Given the description of an element on the screen output the (x, y) to click on. 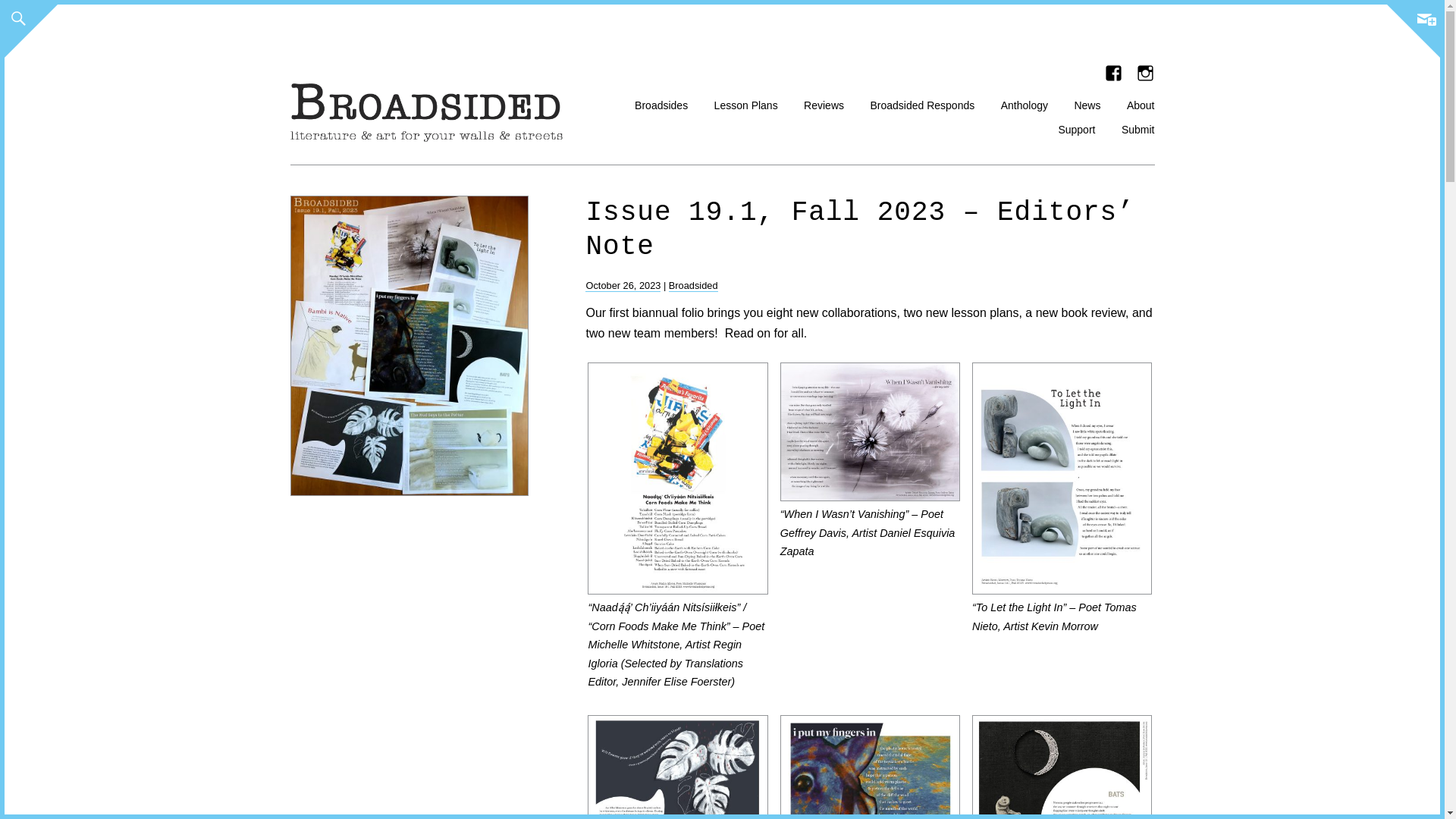
Lesson Plans (745, 103)
Broadsided Responds (921, 103)
Anthology (1024, 103)
News (1087, 103)
Support (1076, 127)
Search (28, 13)
Reviews (823, 103)
Broadsided (692, 285)
Broadsides (660, 103)
Search our site (17, 18)
About (1140, 103)
Posts by Broadsided (692, 285)
Submit (1137, 127)
October 26, 2023 (623, 285)
